Given the description of an element on the screen output the (x, y) to click on. 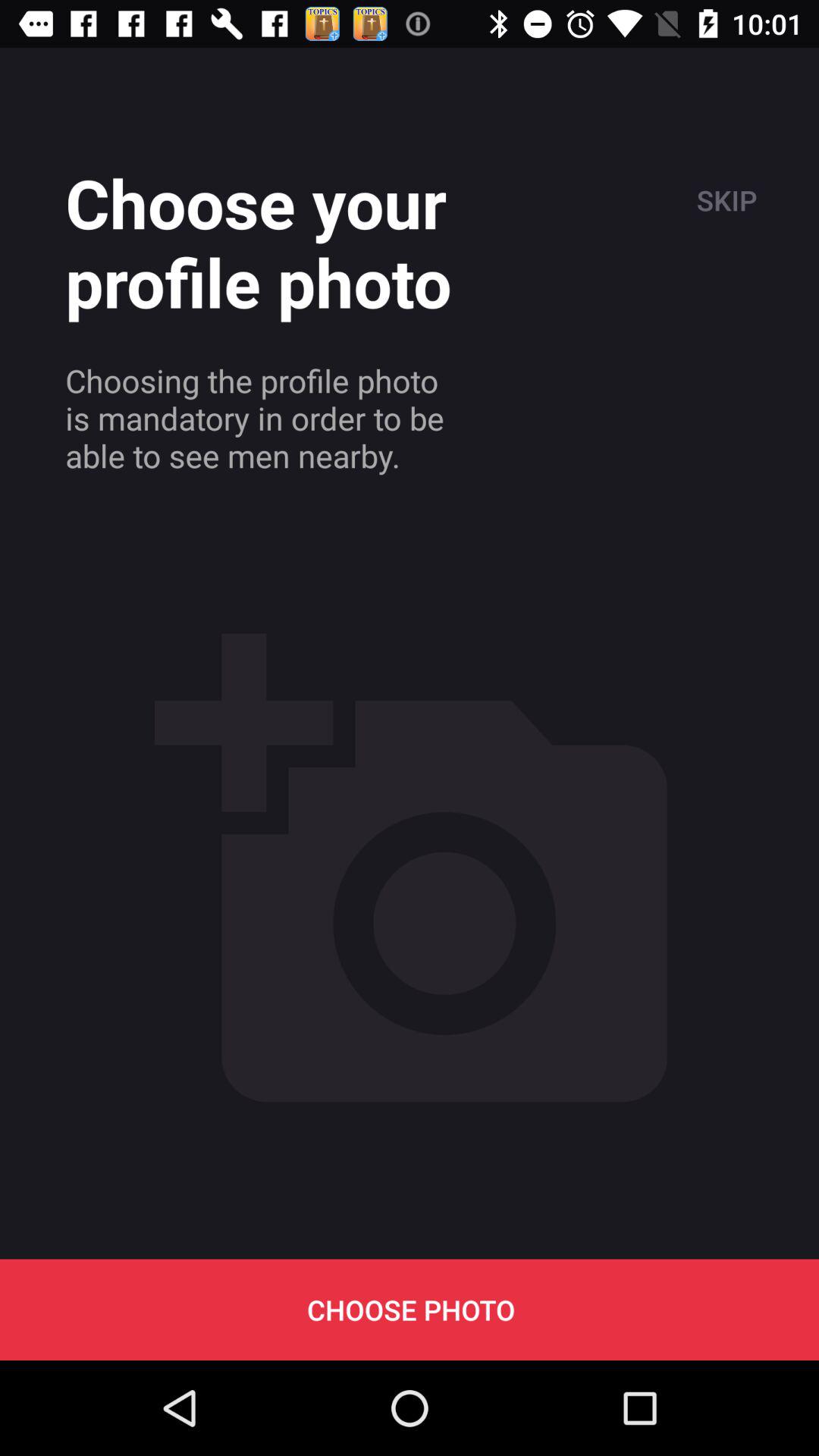
launch the icon above the choose photo item (725, 199)
